Given the description of an element on the screen output the (x, y) to click on. 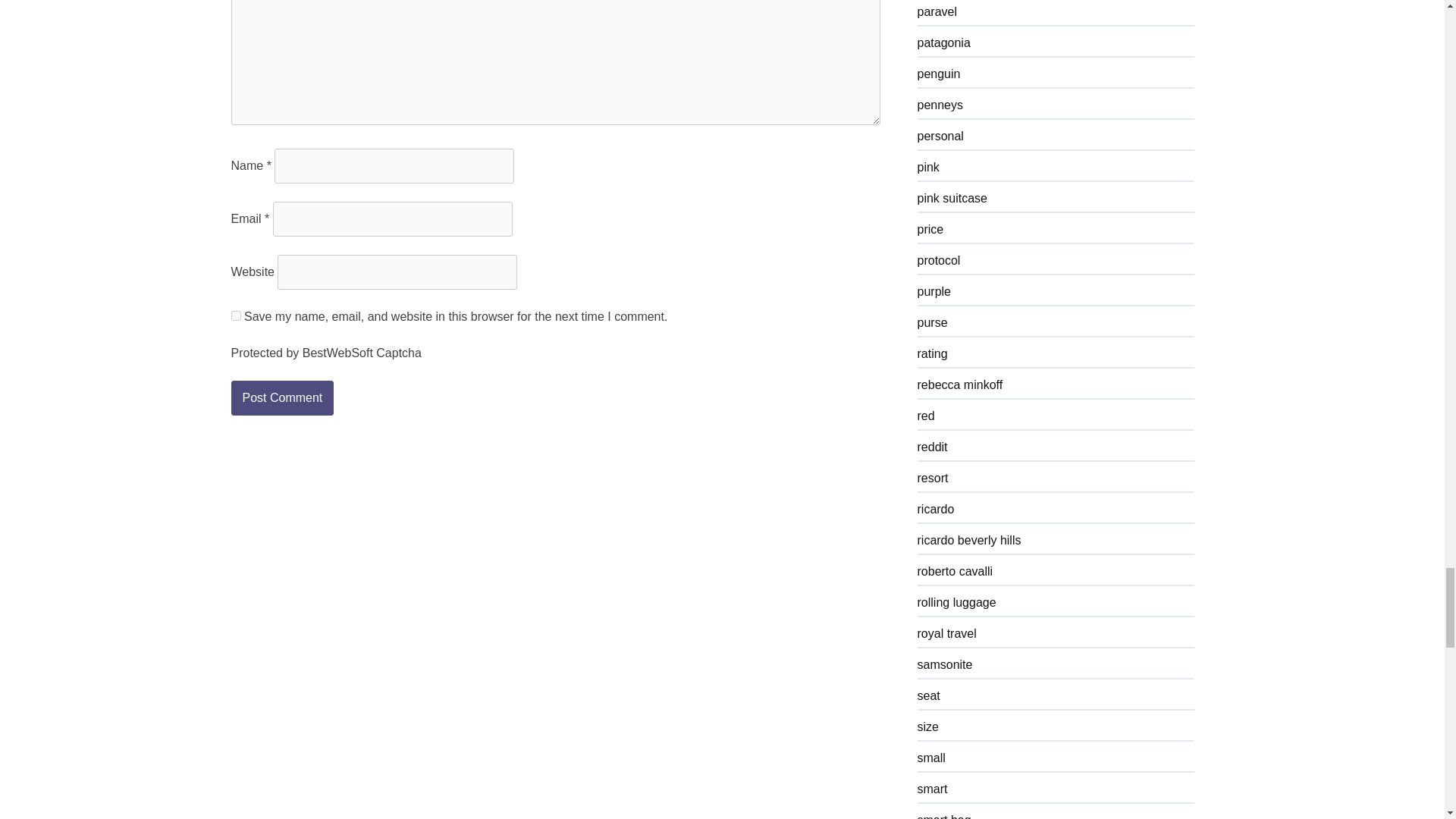
yes (235, 316)
Post Comment (281, 397)
Post Comment (281, 397)
